Given the description of an element on the screen output the (x, y) to click on. 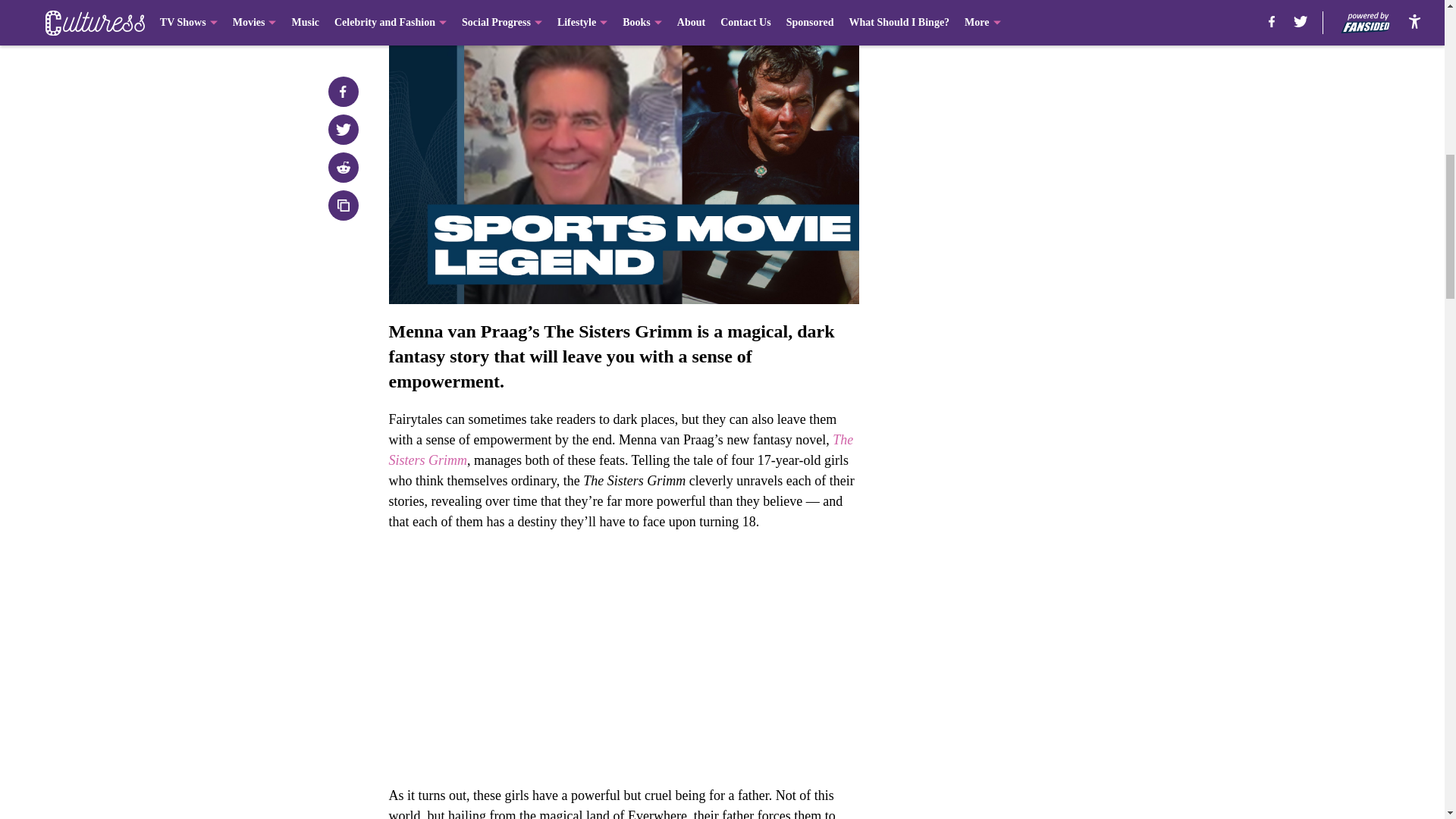
3rd party ad content (1047, 353)
3rd party ad content (1047, 134)
